Given the description of an element on the screen output the (x, y) to click on. 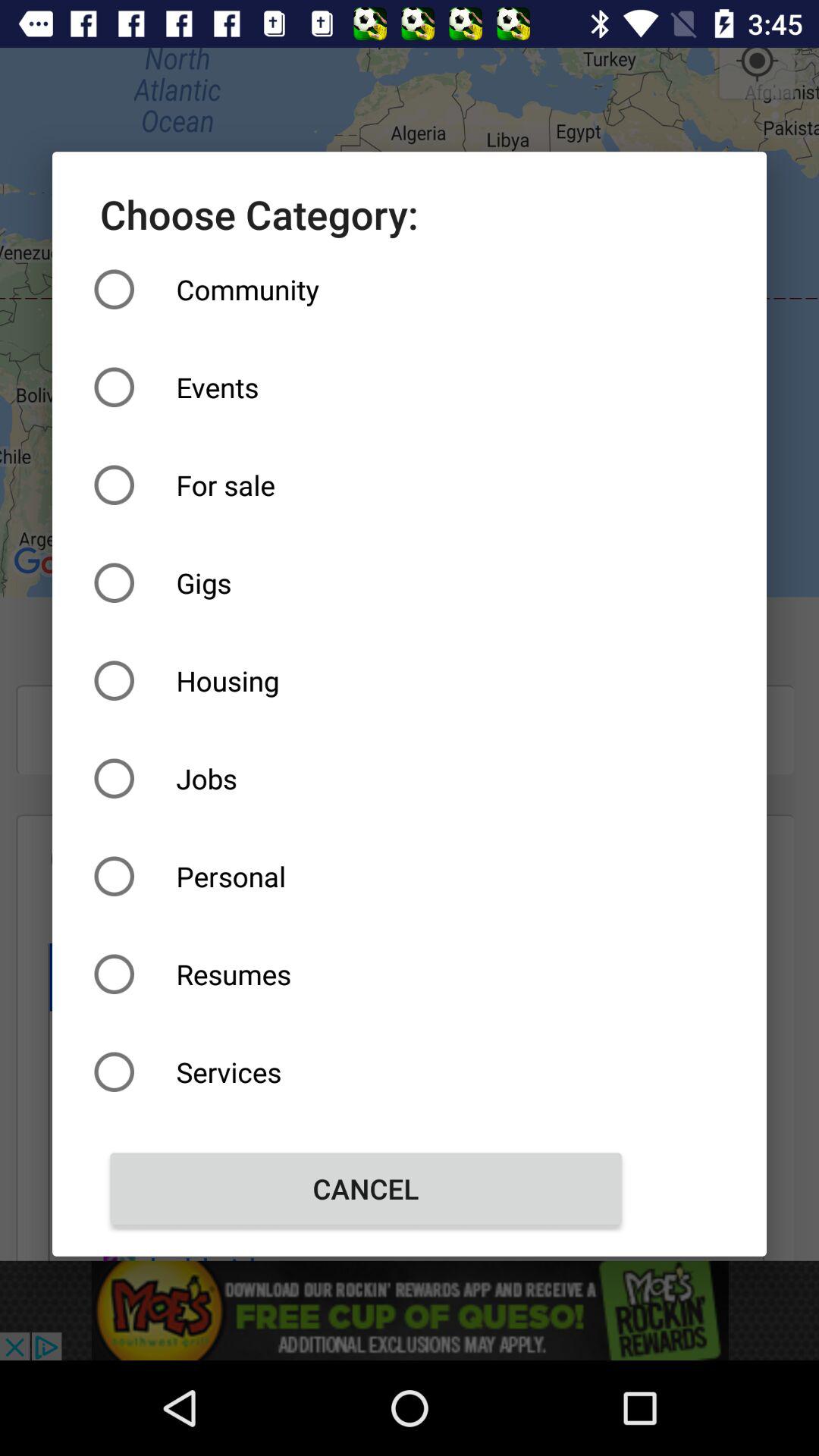
turn on the item above resumes icon (365, 876)
